Given the description of an element on the screen output the (x, y) to click on. 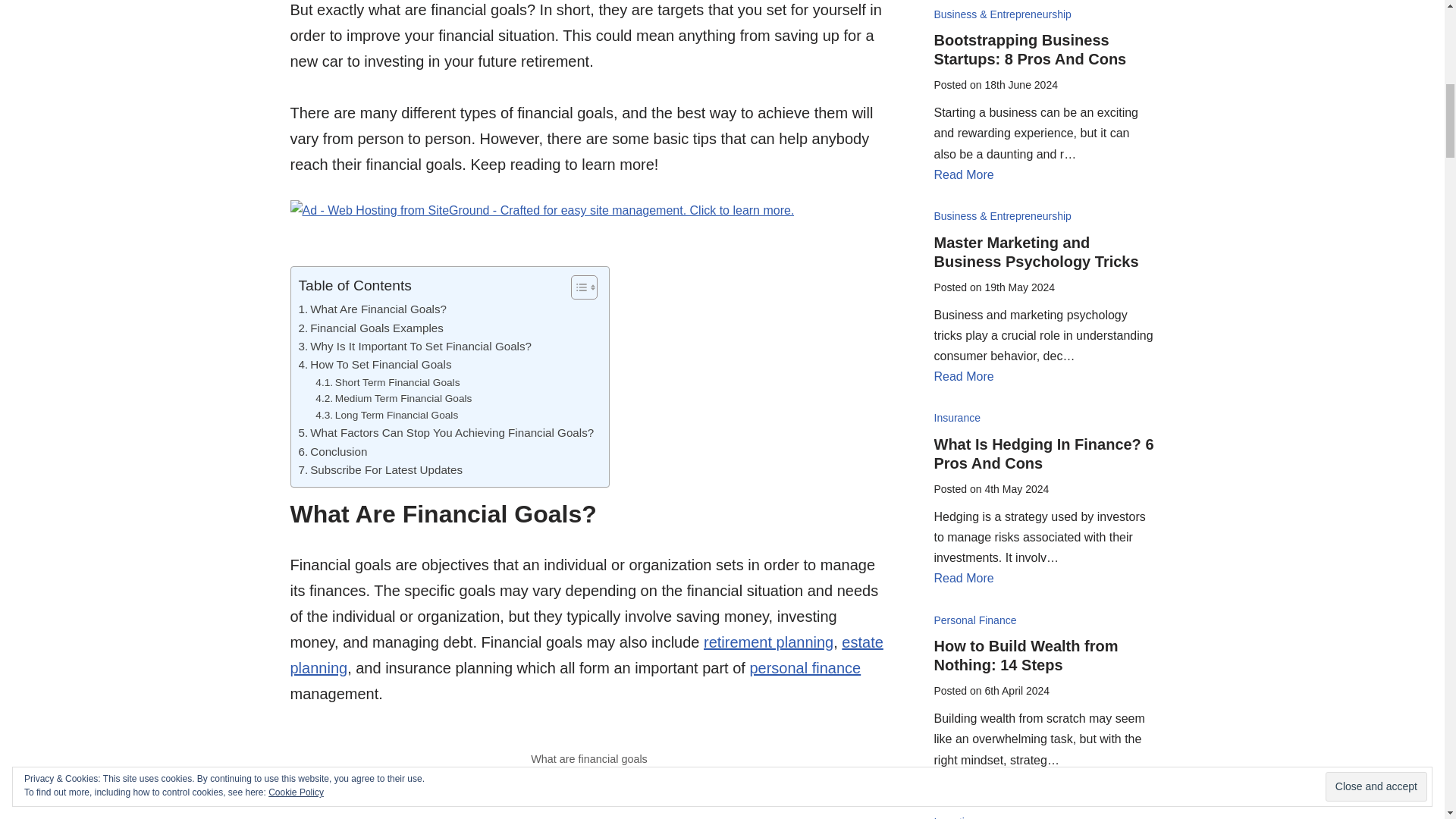
What Are Financial Goals? (372, 309)
How To Set Financial Goals (374, 364)
Medium Term Financial Goals (393, 398)
Financial Goals Examples (371, 328)
Why Is It Important To Set Financial Goals? (415, 346)
Short Term Financial Goals (387, 382)
